Given the description of an element on the screen output the (x, y) to click on. 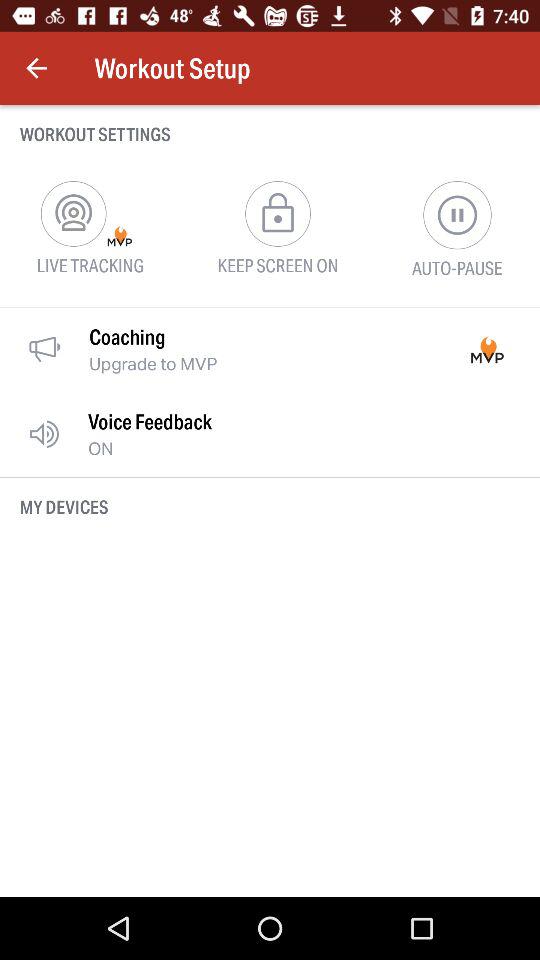
select the icon to the left of workout setup (36, 68)
